Given the description of an element on the screen output the (x, y) to click on. 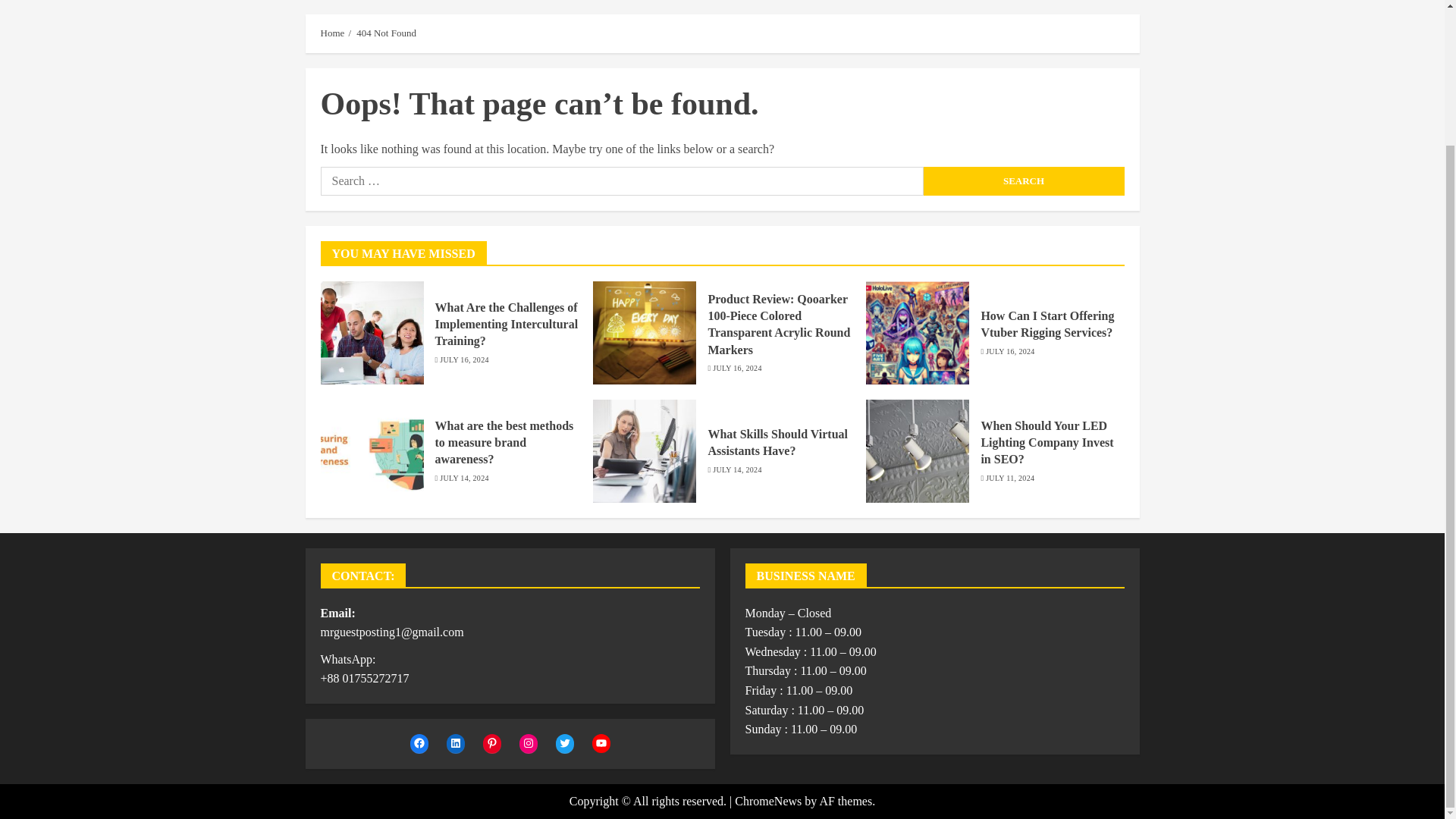
What Skills Should Virtual Assistants Have? (777, 442)
JULY 14, 2024 (737, 470)
JULY 16, 2024 (463, 359)
JULY 14, 2024 (463, 478)
Instagram (527, 742)
JULY 11, 2024 (1009, 478)
JULY 16, 2024 (1009, 351)
When Should Your LED Lighting Company Invest in SEO? (1046, 442)
JULY 16, 2024 (737, 368)
Search (1099, 26)
404 Not Found (386, 33)
Home (331, 33)
How Can I Start Offering Vtuber Rigging Services? (1046, 324)
Search (1023, 181)
